Given the description of an element on the screen output the (x, y) to click on. 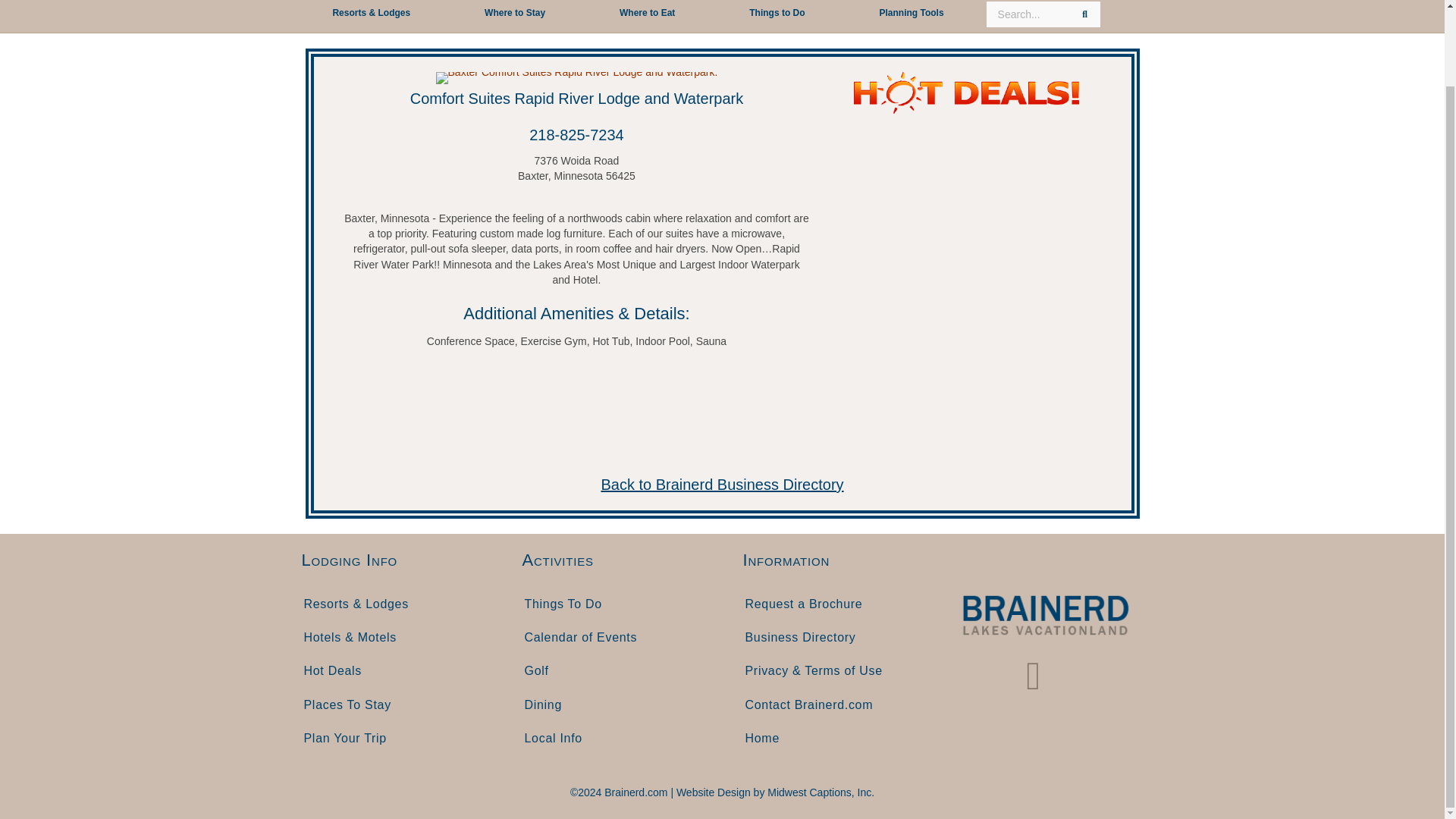
Back to Brainerd Business Directory (721, 484)
rapid-river-lodge-logo (576, 78)
hotdeals-icon1 (965, 92)
Where to Eat (646, 15)
Comfort Suites Rapid River Lodge and Waterpark (576, 98)
Where to Stay (514, 15)
Things to Do (776, 15)
